Given the description of an element on the screen output the (x, y) to click on. 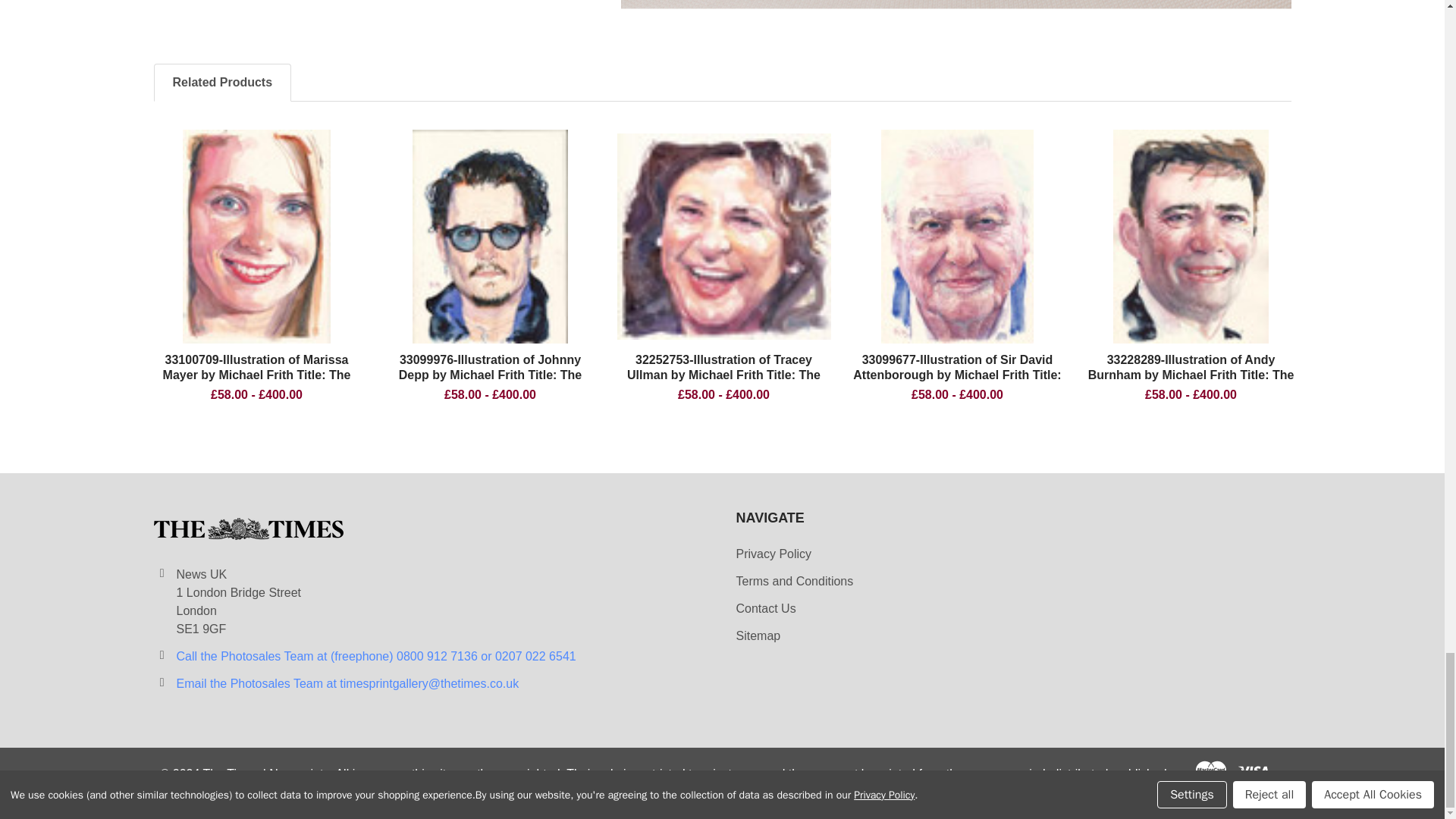
image 1 (957, 236)
image 1 (1191, 236)
image 1 (256, 236)
image 1 (724, 236)
image 1 (490, 236)
